Given the description of an element on the screen output the (x, y) to click on. 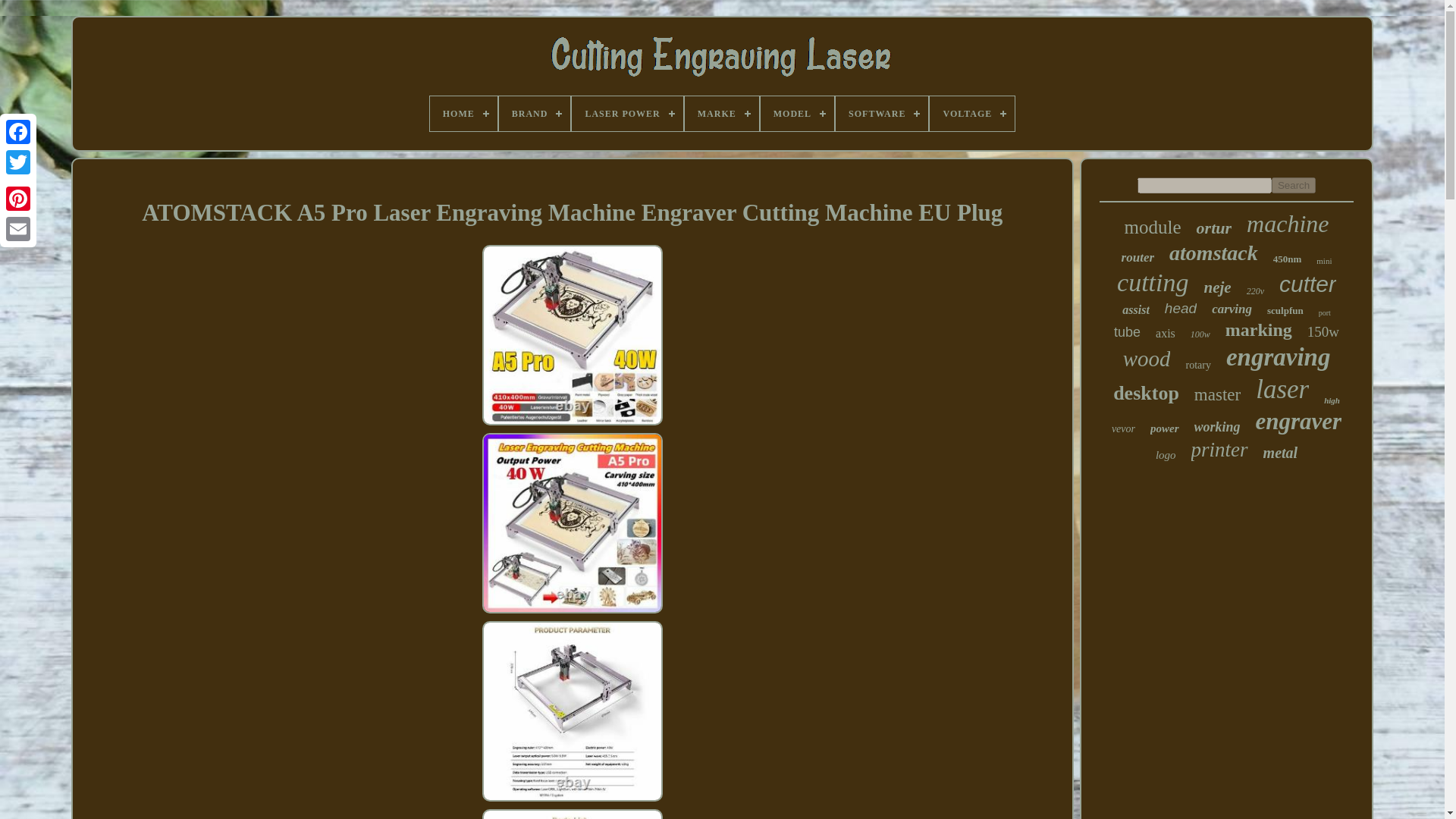
BRAND (534, 113)
Search (1293, 185)
LASER POWER (627, 113)
HOME (463, 113)
